Given the description of an element on the screen output the (x, y) to click on. 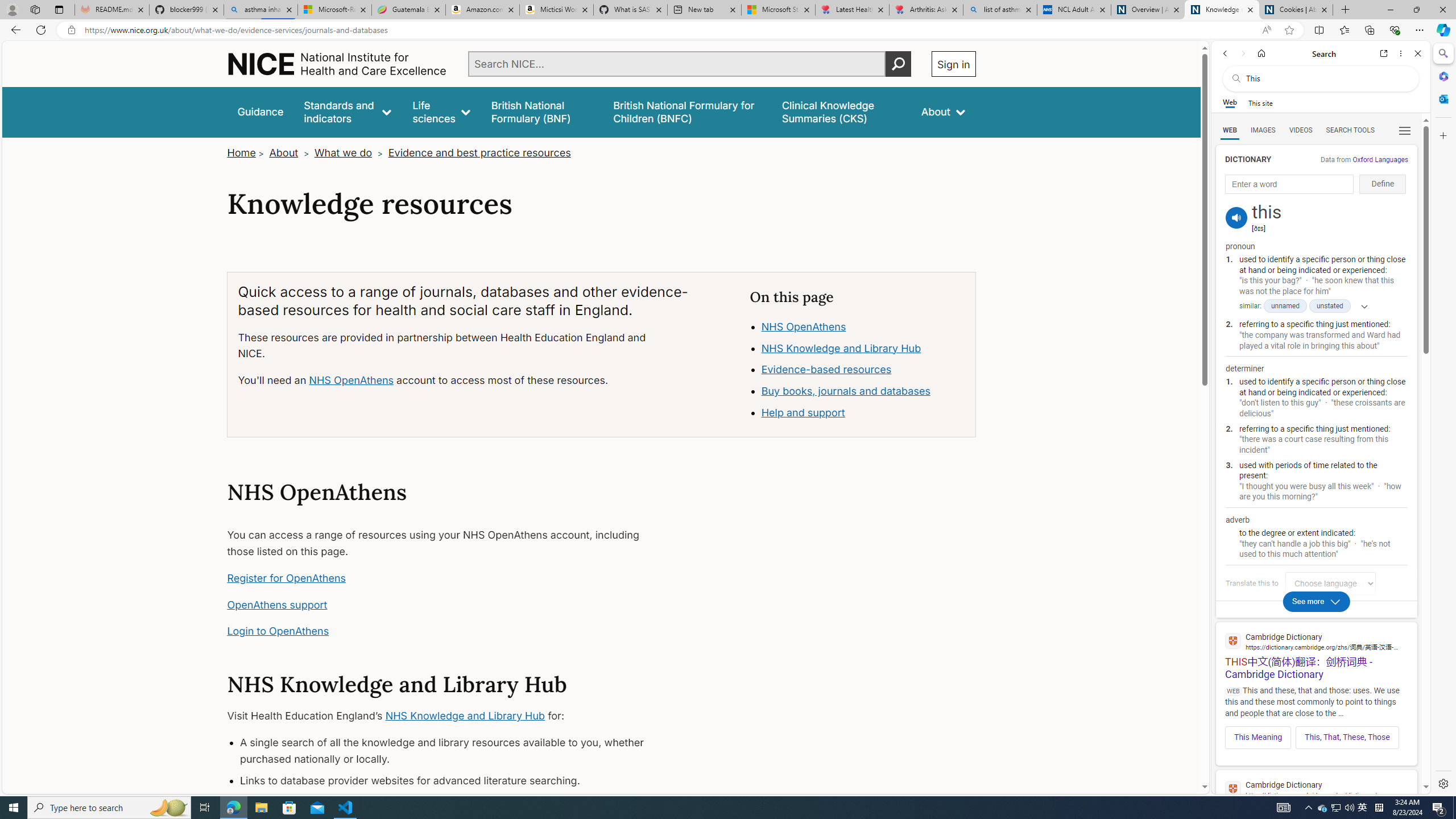
false (841, 111)
Buy books, journals and databases (863, 391)
OpenAthens support (277, 604)
Register for OpenAthens (286, 577)
NHS OpenAthens (803, 326)
